Given the description of an element on the screen output the (x, y) to click on. 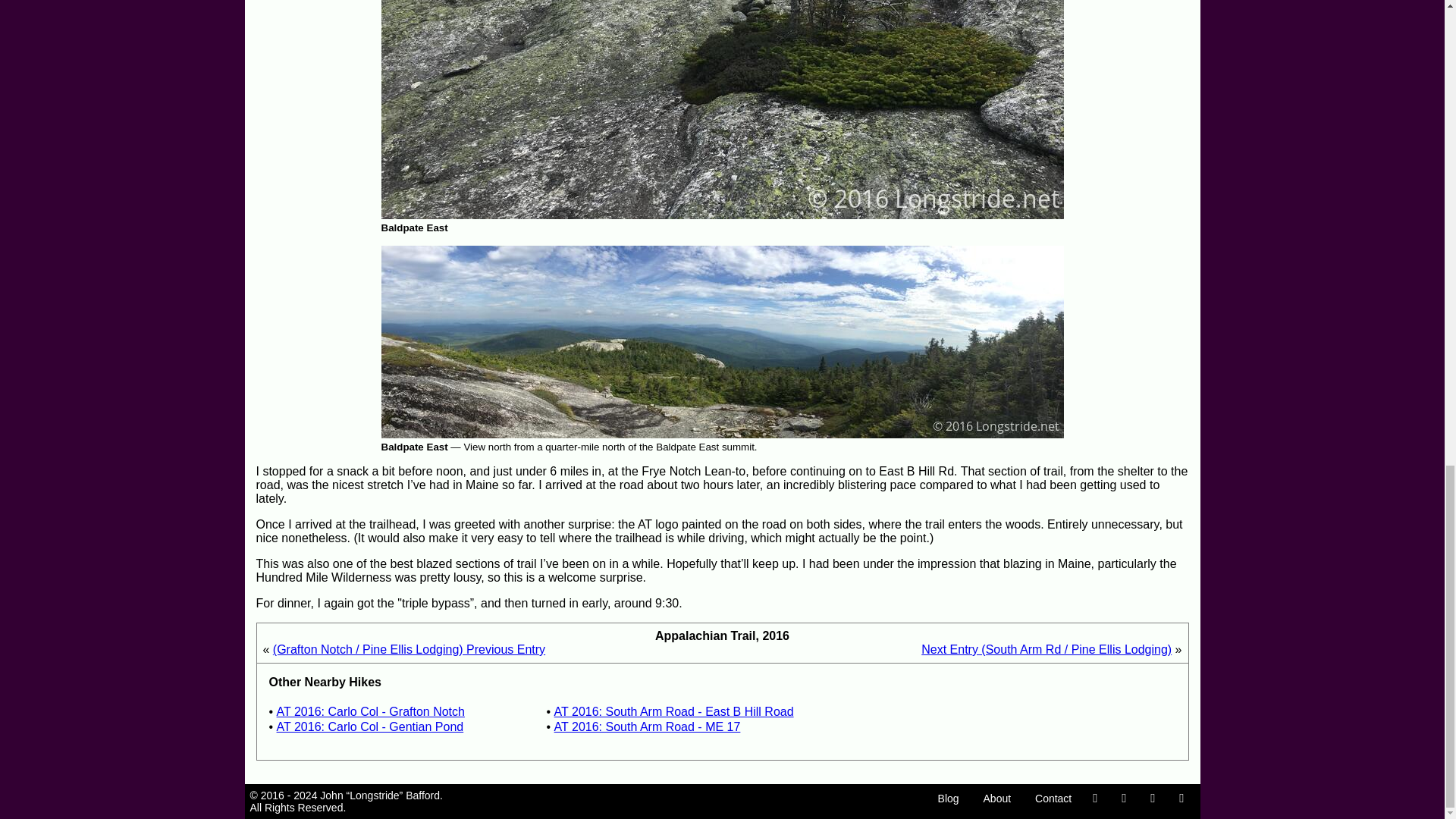
AT 2016: Carlo Col - Gentian Pond (370, 726)
AT 2016: Carlo Col - Grafton Notch (370, 711)
AT 2016: South Arm Road - ME 17 (647, 726)
AT 2016: South Arm Road - East B Hill Road (673, 711)
